Given the description of an element on the screen output the (x, y) to click on. 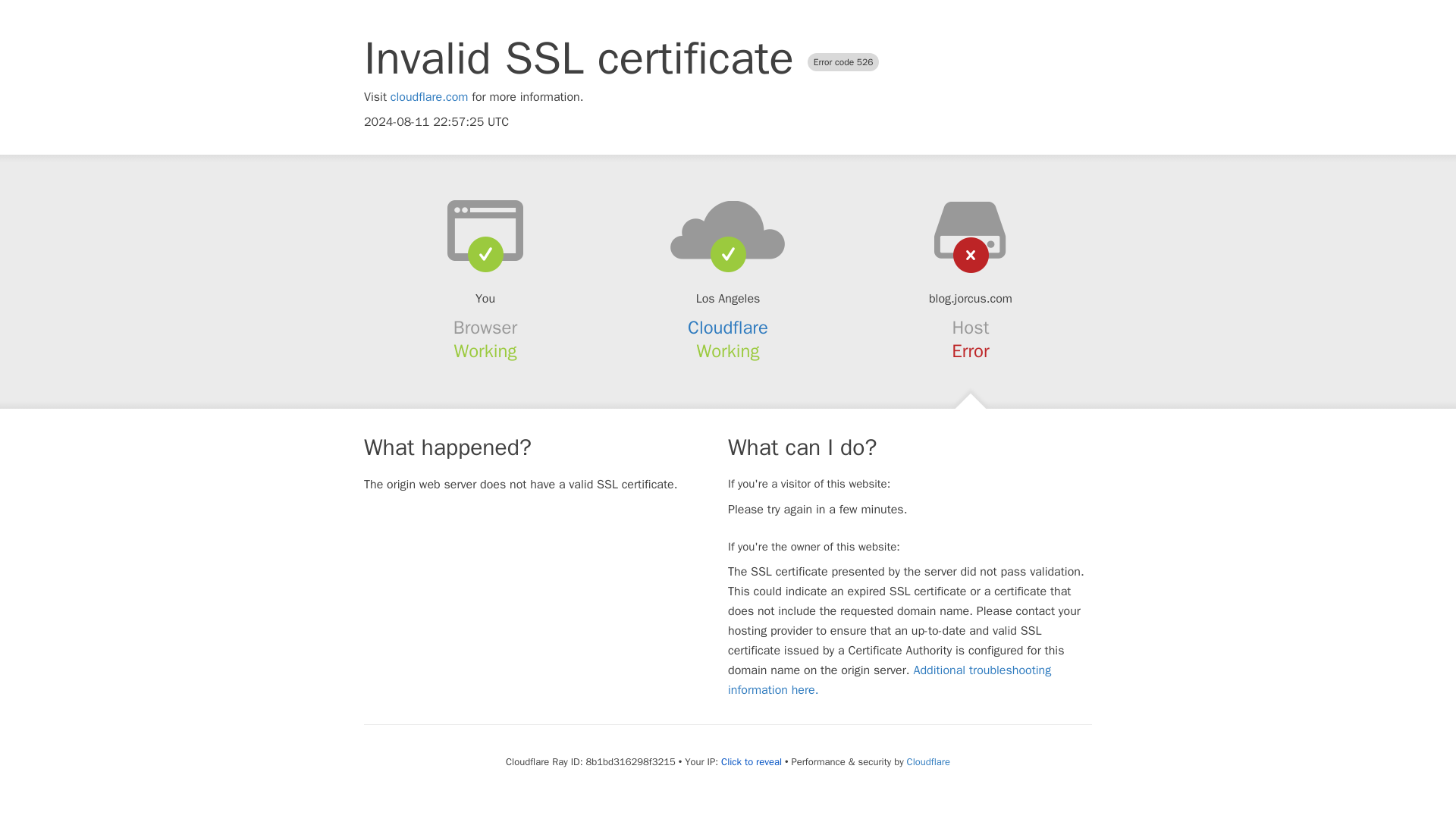
Cloudflare (727, 327)
Cloudflare (928, 761)
cloudflare.com (429, 96)
Additional troubleshooting information here. (889, 679)
Click to reveal (750, 762)
